Given the description of an element on the screen output the (x, y) to click on. 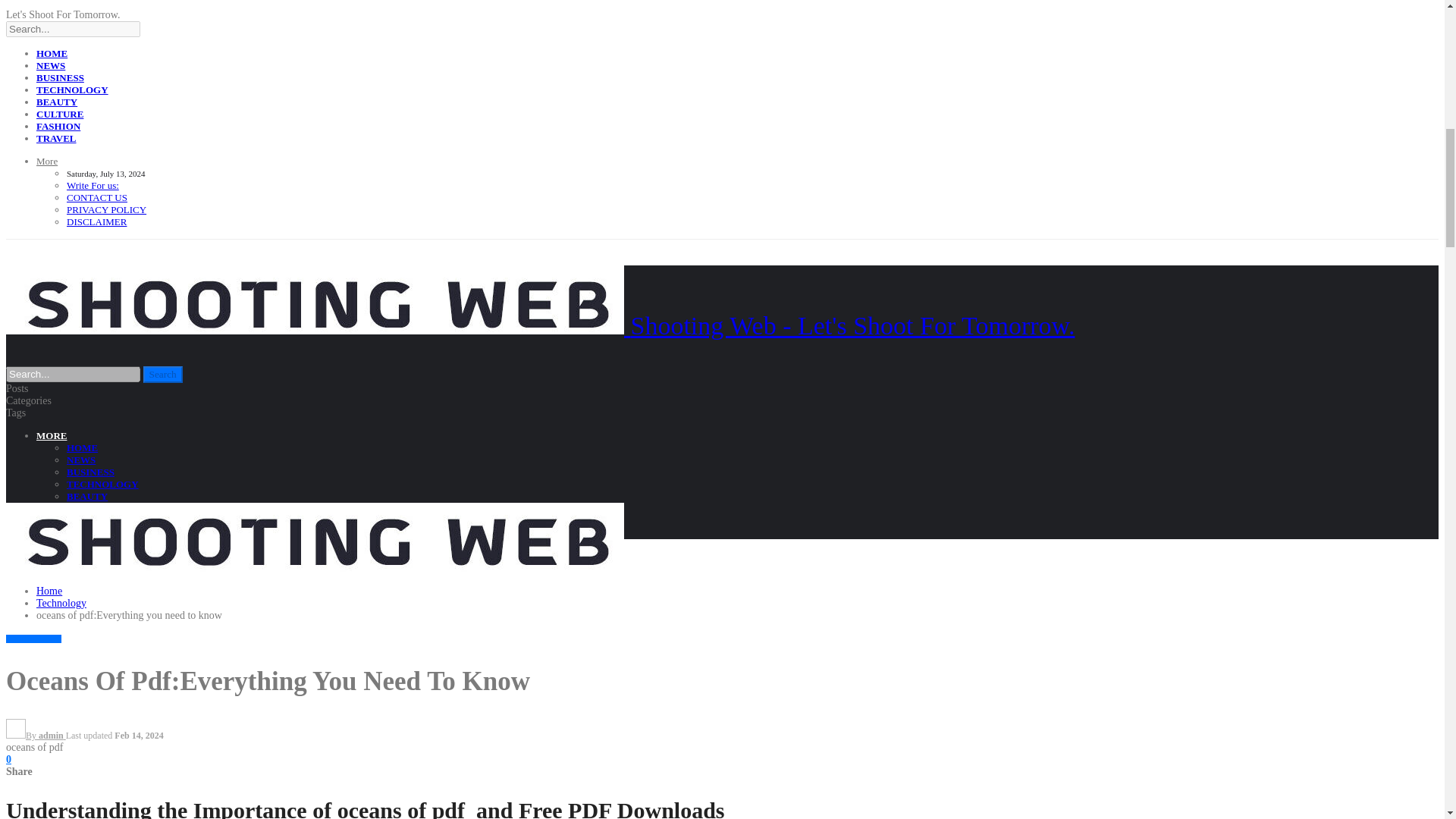
TRAVEL (86, 532)
BEAUTY (56, 101)
Shooting Web - Let's Shoot For Tomorrow. (539, 325)
TECHNOLOGY (33, 638)
NEWS (50, 65)
BEAUTY (86, 496)
Home (49, 591)
By admin (35, 735)
Browse Author Articles (35, 735)
FASHION (88, 520)
CONTACT US (97, 197)
HOME (81, 447)
DISCLAIMER (96, 221)
Write For us: (92, 184)
Technology (60, 603)
